Given the description of an element on the screen output the (x, y) to click on. 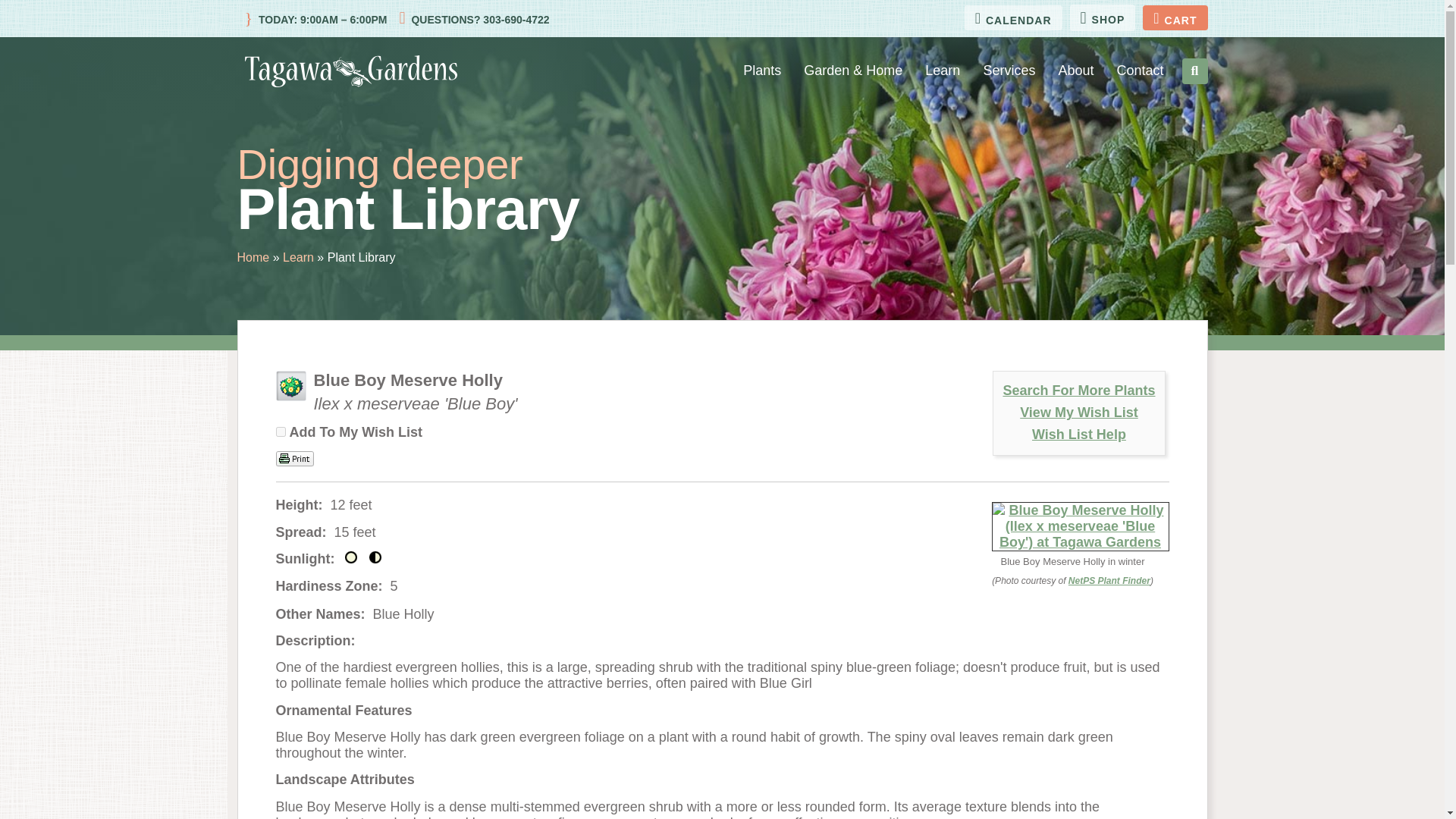
303-690-4722 (514, 19)
print page (295, 458)
Plants (761, 70)
partial shade (375, 557)
SHOP (1102, 17)
shrub (290, 386)
full sun (350, 557)
CART (1174, 17)
Learn (941, 70)
True (280, 431)
CALENDAR (1012, 17)
Services (1008, 70)
